Given the description of an element on the screen output the (x, y) to click on. 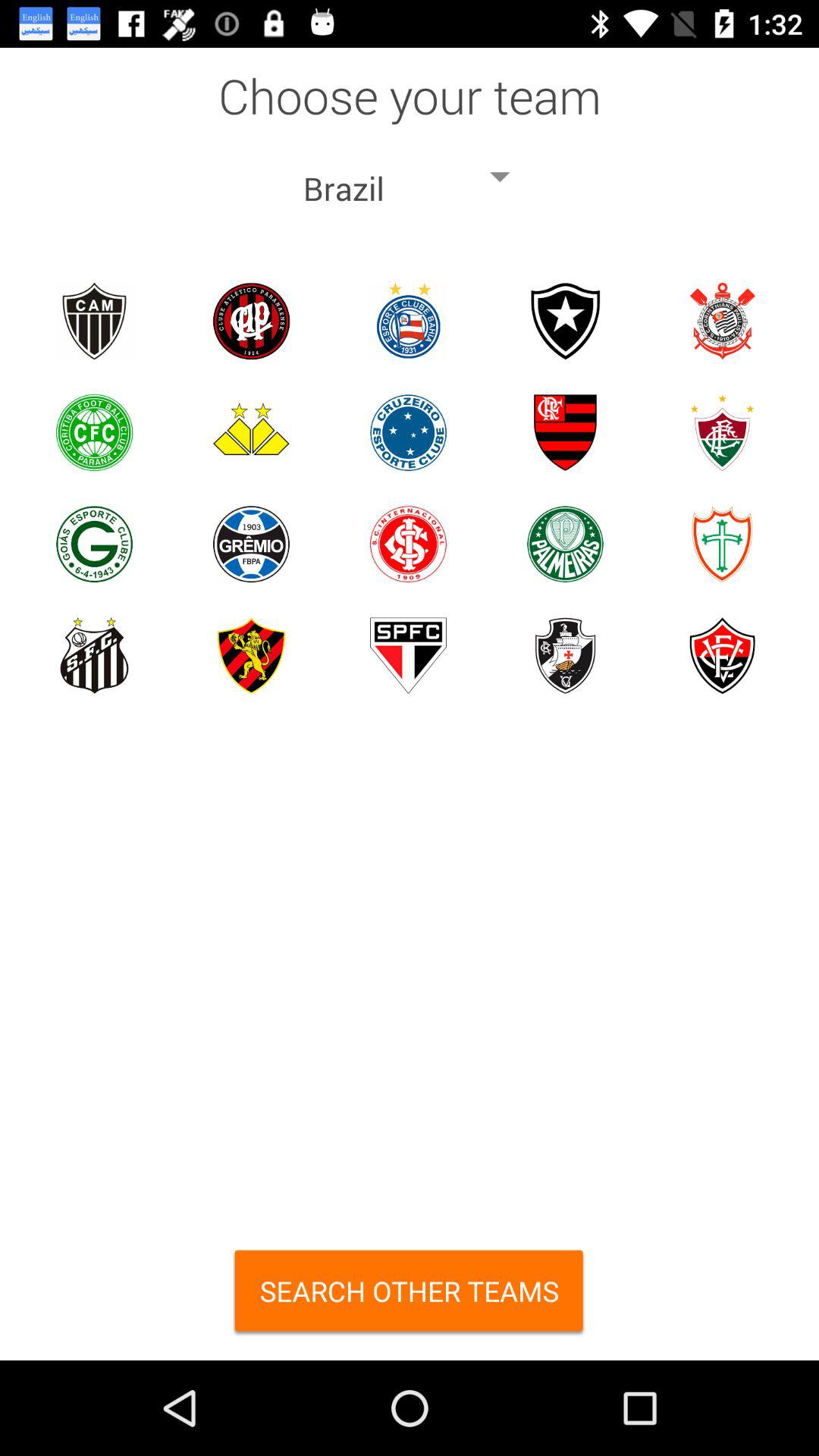
choose team (408, 321)
